Given the description of an element on the screen output the (x, y) to click on. 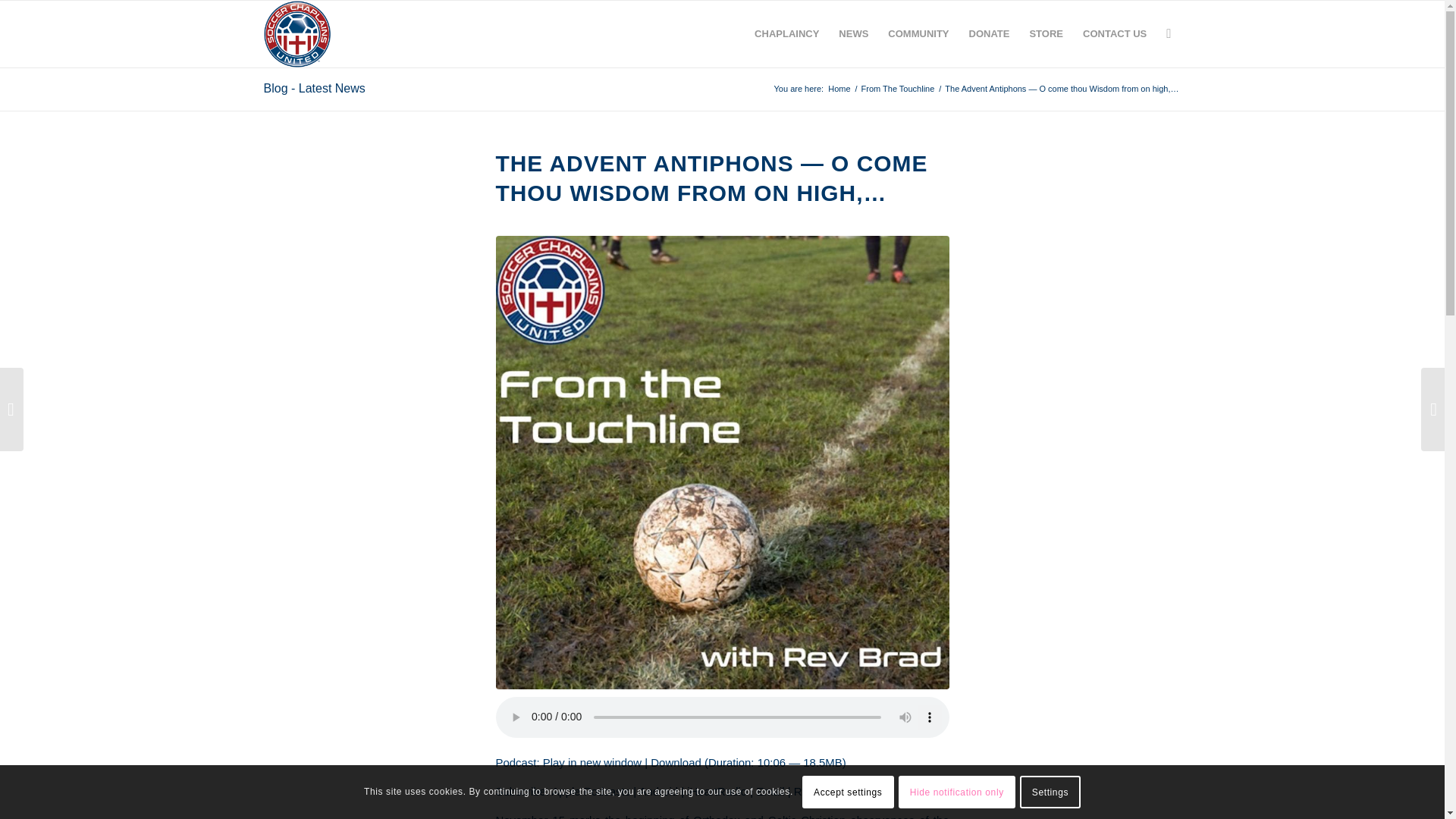
RSS (804, 790)
Soccer Chaplains United (838, 89)
Donate (989, 33)
Apple Podcasts (590, 790)
Subscribe on Android (658, 790)
From The Touchline (898, 89)
Chaplaincy (786, 33)
Play in new window (592, 762)
Subscribe on Apple Podcasts (590, 790)
